Given the description of an element on the screen output the (x, y) to click on. 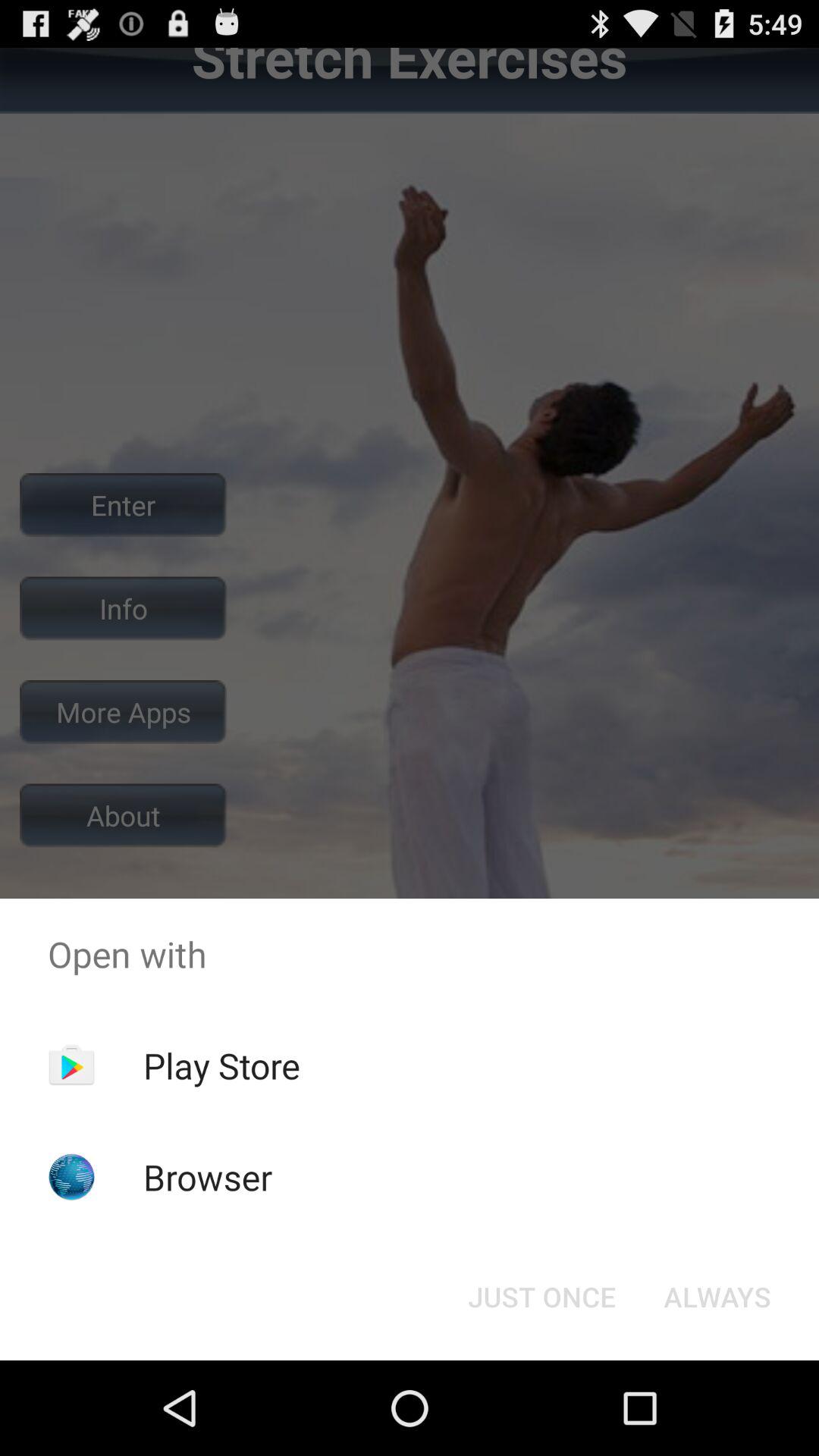
press item to the left of the always (541, 1296)
